Given the description of an element on the screen output the (x, y) to click on. 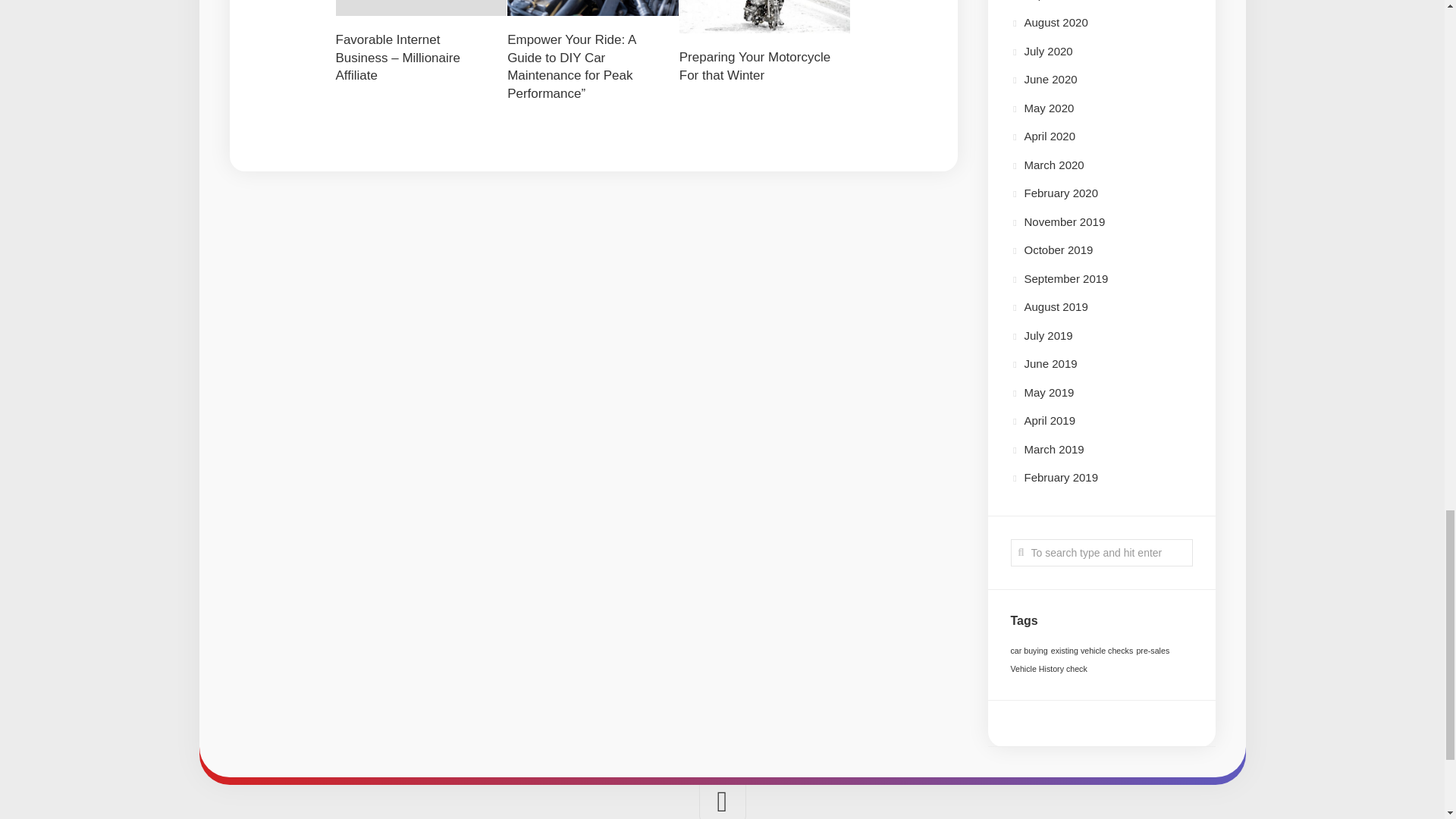
To search type and hit enter (1101, 552)
Preparing Your Motorcycle For that Winter (754, 65)
To search type and hit enter (1101, 552)
